Given the description of an element on the screen output the (x, y) to click on. 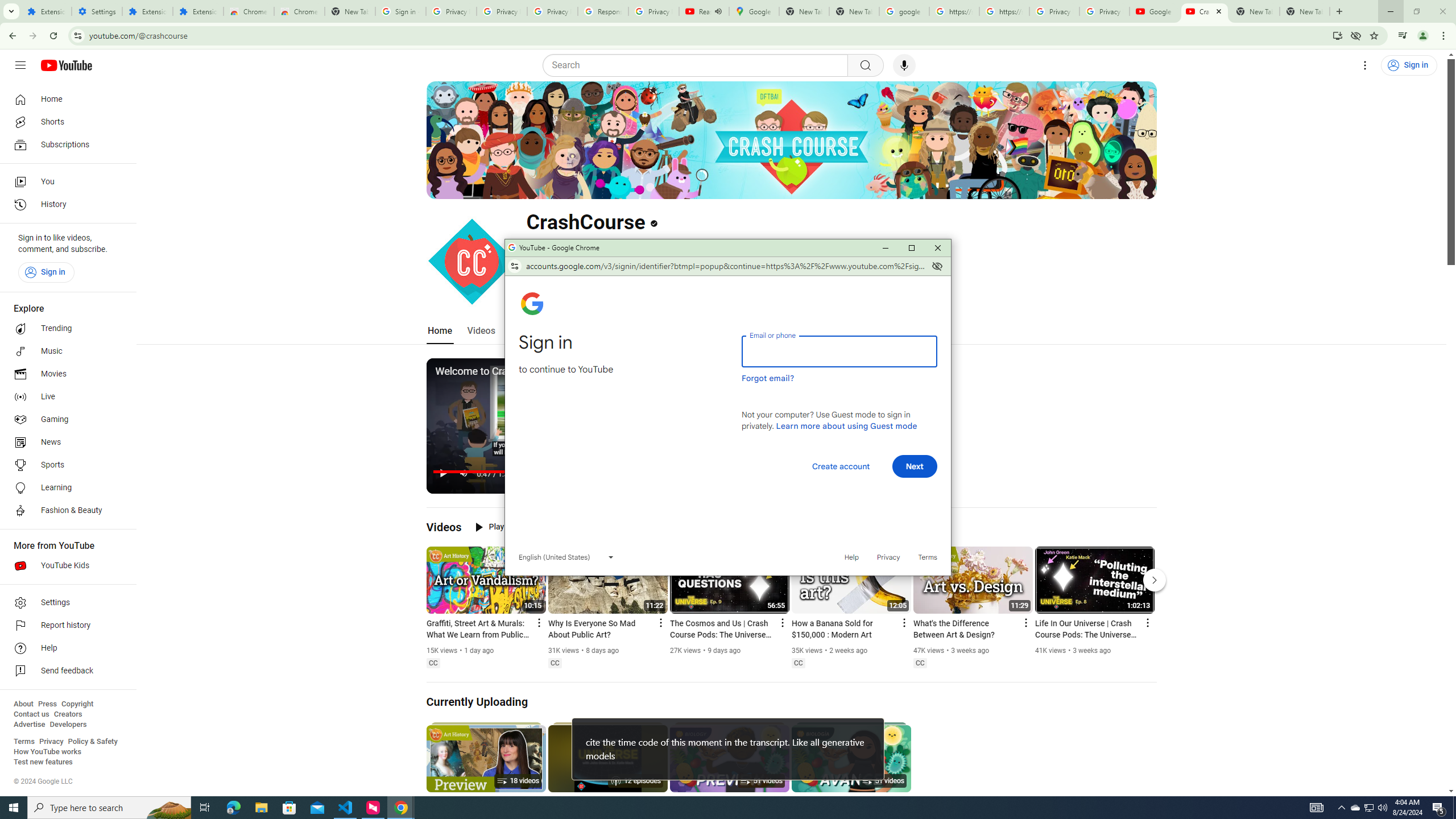
Show desktop (1454, 807)
Google Chrome - 3 running windows (400, 807)
Type here to search (108, 807)
Visual Studio Code - 1 running window (345, 807)
Chrome Web Store (248, 11)
Contact us (31, 714)
Search highlights icon opens search home window (167, 807)
Copyright (77, 703)
Forgot email? (767, 378)
Action Center, 5 new notifications (1439, 807)
How YouTube works (47, 751)
